Given the description of an element on the screen output the (x, y) to click on. 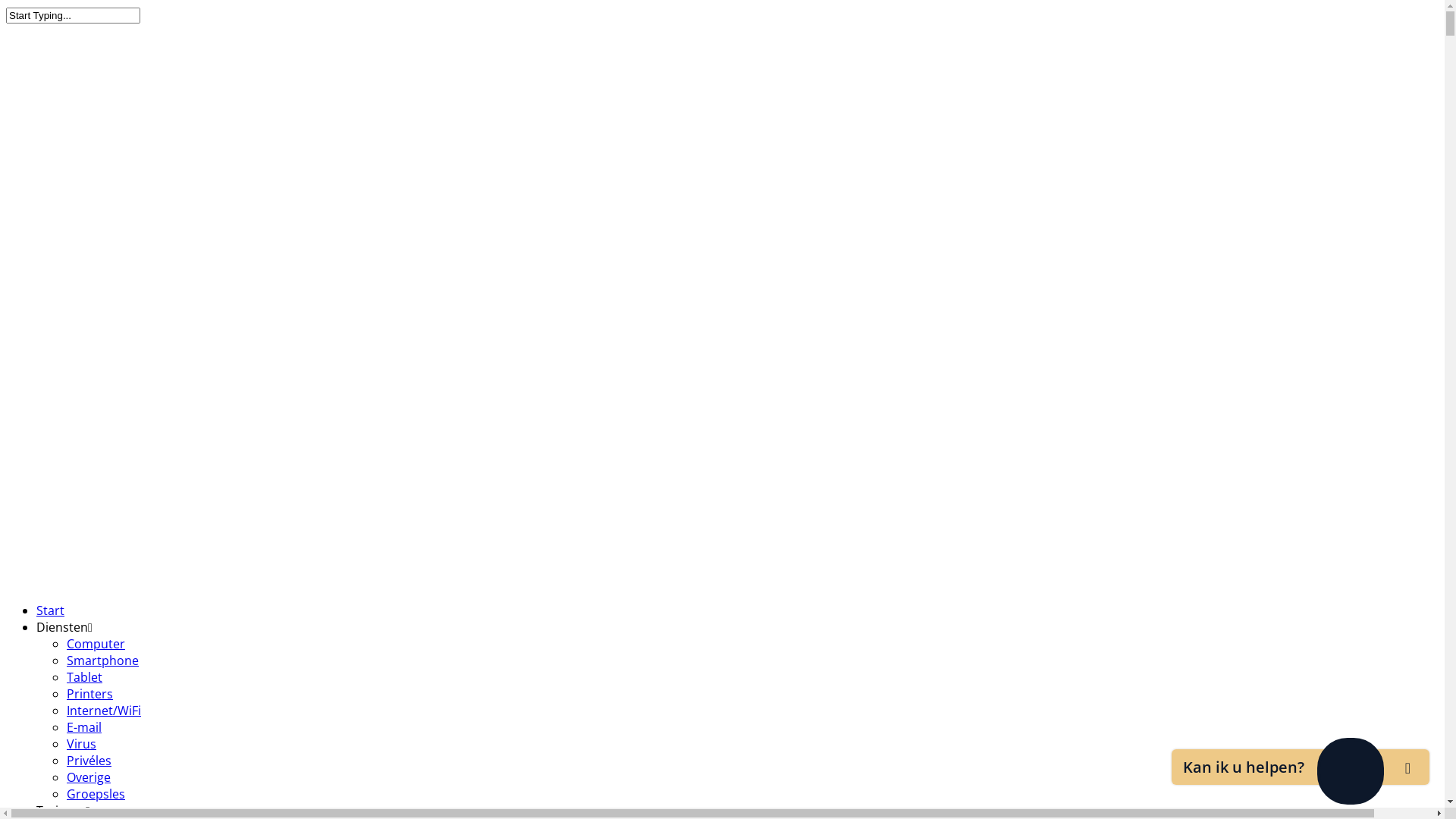
Start Element type: text (50, 610)
Tablet Element type: text (84, 676)
Overige Element type: text (88, 776)
Groepsles Element type: text (95, 793)
Internet/WiFi Element type: text (103, 710)
E-mail Element type: text (83, 726)
Virus Element type: text (81, 743)
Computer Element type: text (95, 643)
Printers Element type: text (89, 693)
Smartphone Element type: text (102, 660)
Diensten Element type: text (64, 626)
